Given the description of an element on the screen output the (x, y) to click on. 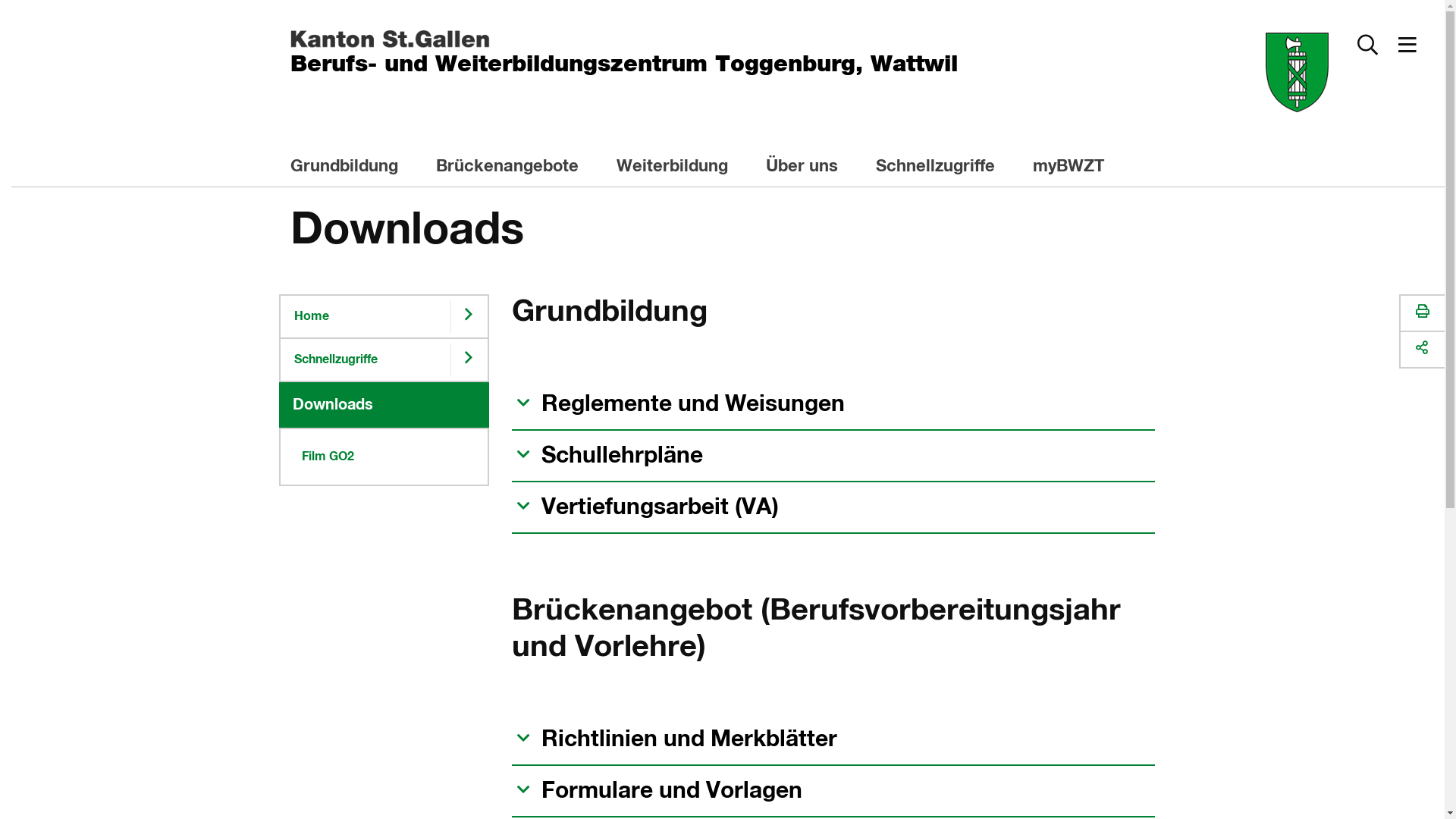
Weiterbildung Element type: text (680, 167)
Home Element type: text (365, 316)
Schnellzugriffe Element type: text (944, 167)
Film GO2 Element type: text (384, 456)
Grundbildung Element type: text (352, 167)
Vertiefungsarbeit (VA) Element type: text (644, 507)
Downloads Element type: text (384, 405)
Formulare und Vorlagen Element type: text (656, 790)
Schnellzugriffe Element type: text (365, 359)
Reglemente und Weisungen Element type: text (677, 404)
myBWZT Element type: text (1077, 167)
